Given the description of an element on the screen output the (x, y) to click on. 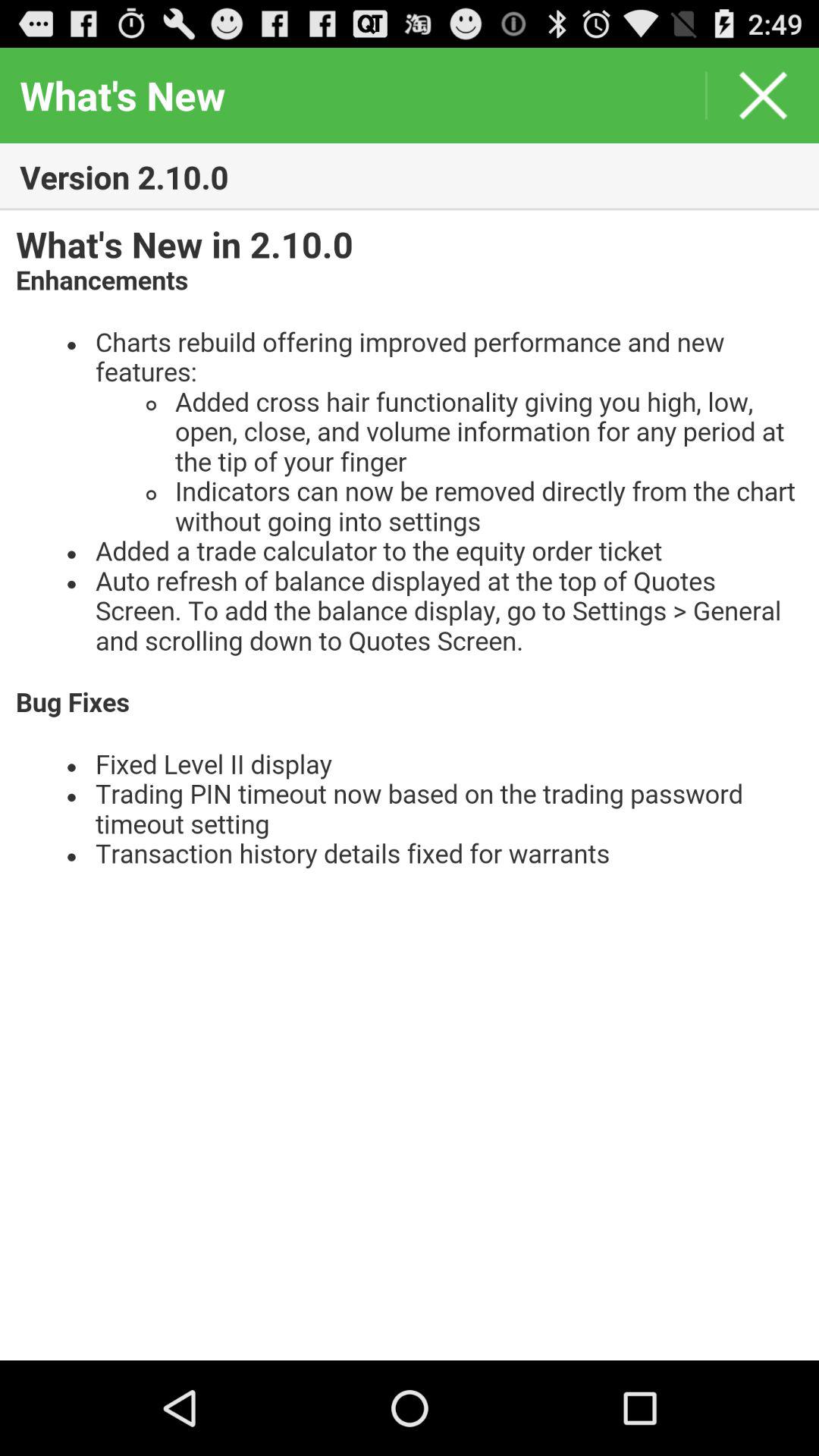
news field (409, 785)
